Given the description of an element on the screen output the (x, y) to click on. 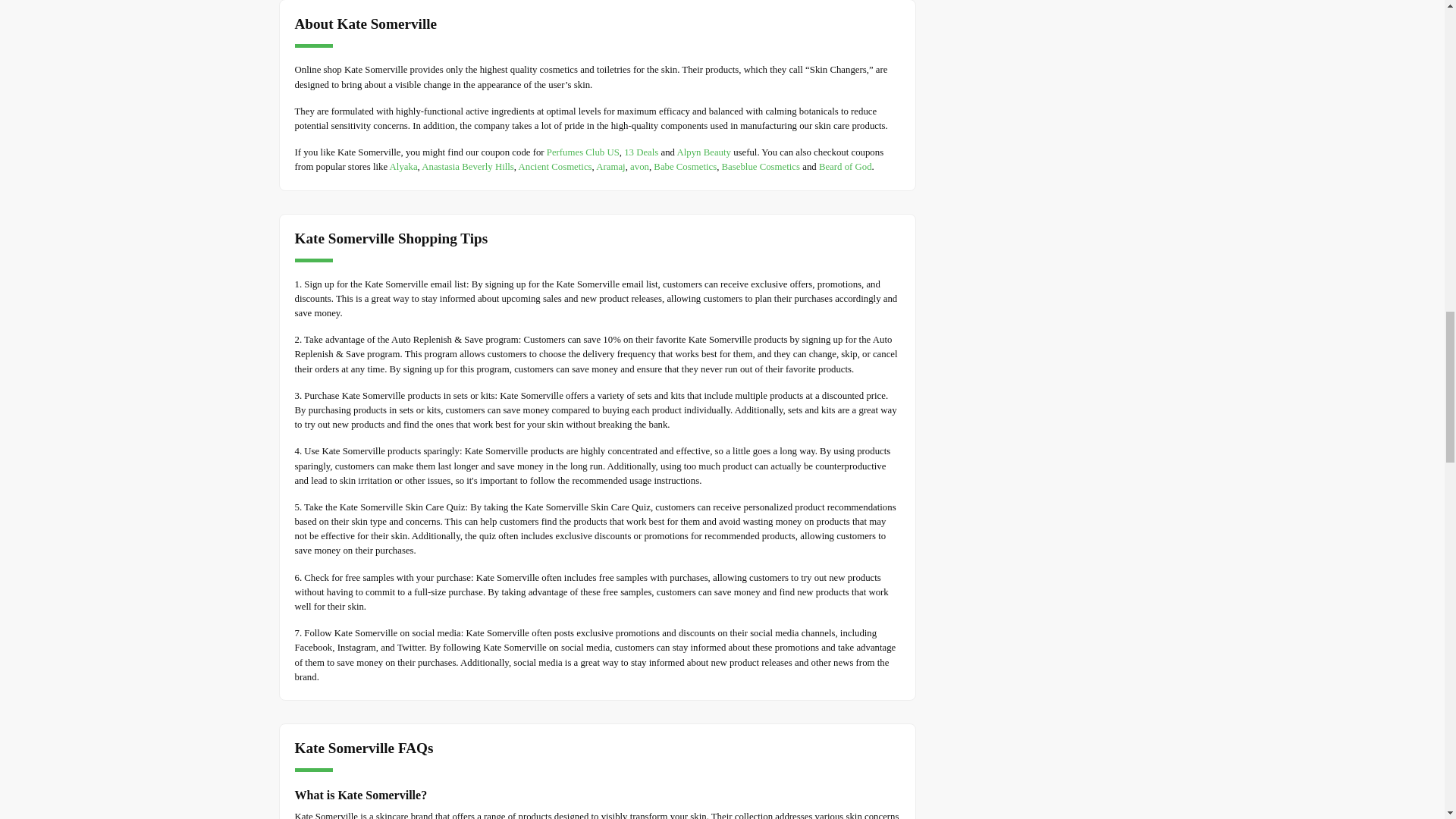
Anastasia Beverly Hills (467, 166)
avon (639, 166)
Perfumes Club US (583, 152)
Alpyn Beauty (703, 152)
Aramaj (609, 166)
Beard of God (845, 166)
13 Deals (641, 152)
Ancient Cosmetics (555, 166)
Babe Cosmetics (684, 166)
Baseblue Cosmetics (760, 166)
